Given the description of an element on the screen output the (x, y) to click on. 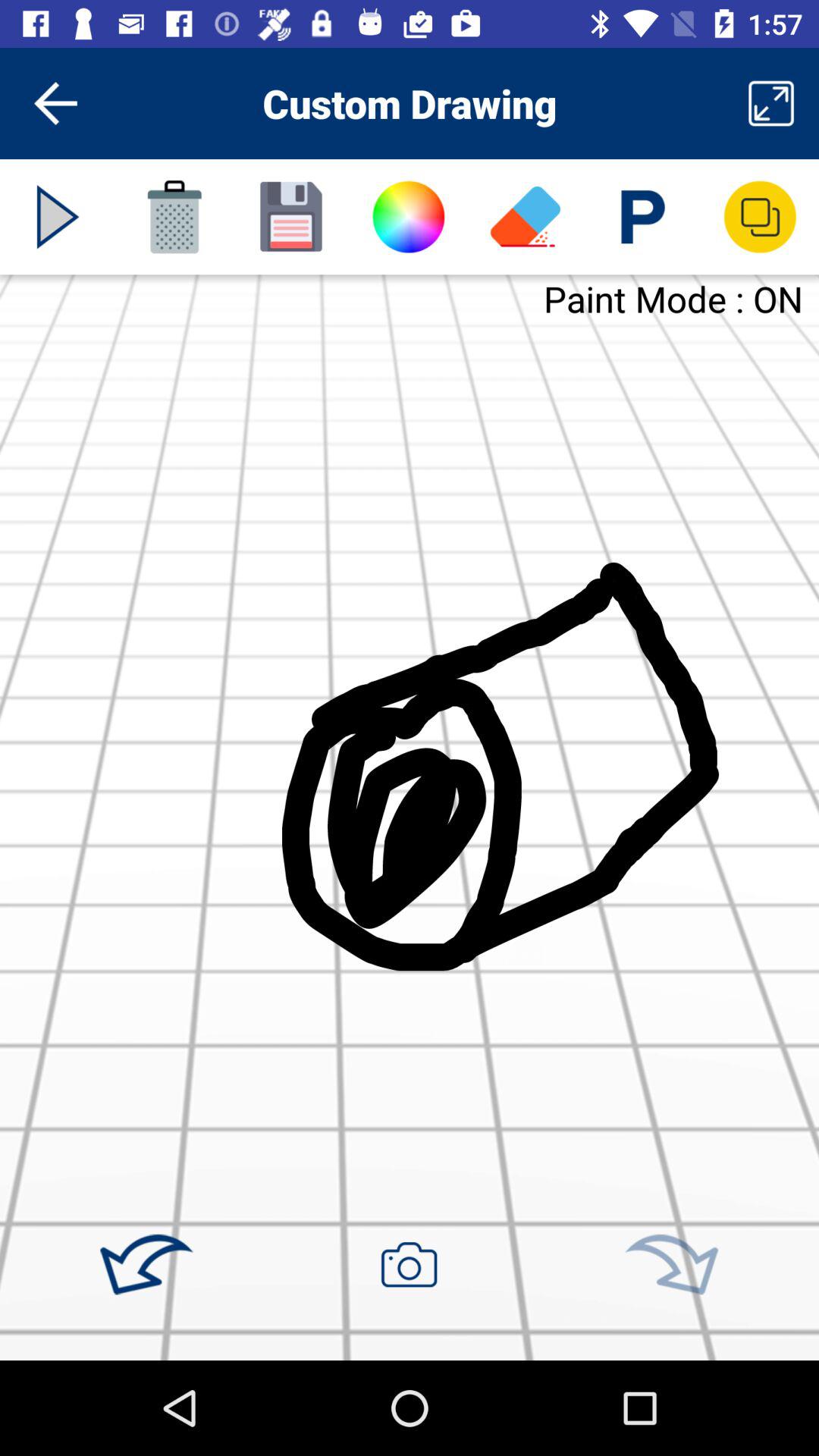
play button (58, 216)
